Given the description of an element on the screen output the (x, y) to click on. 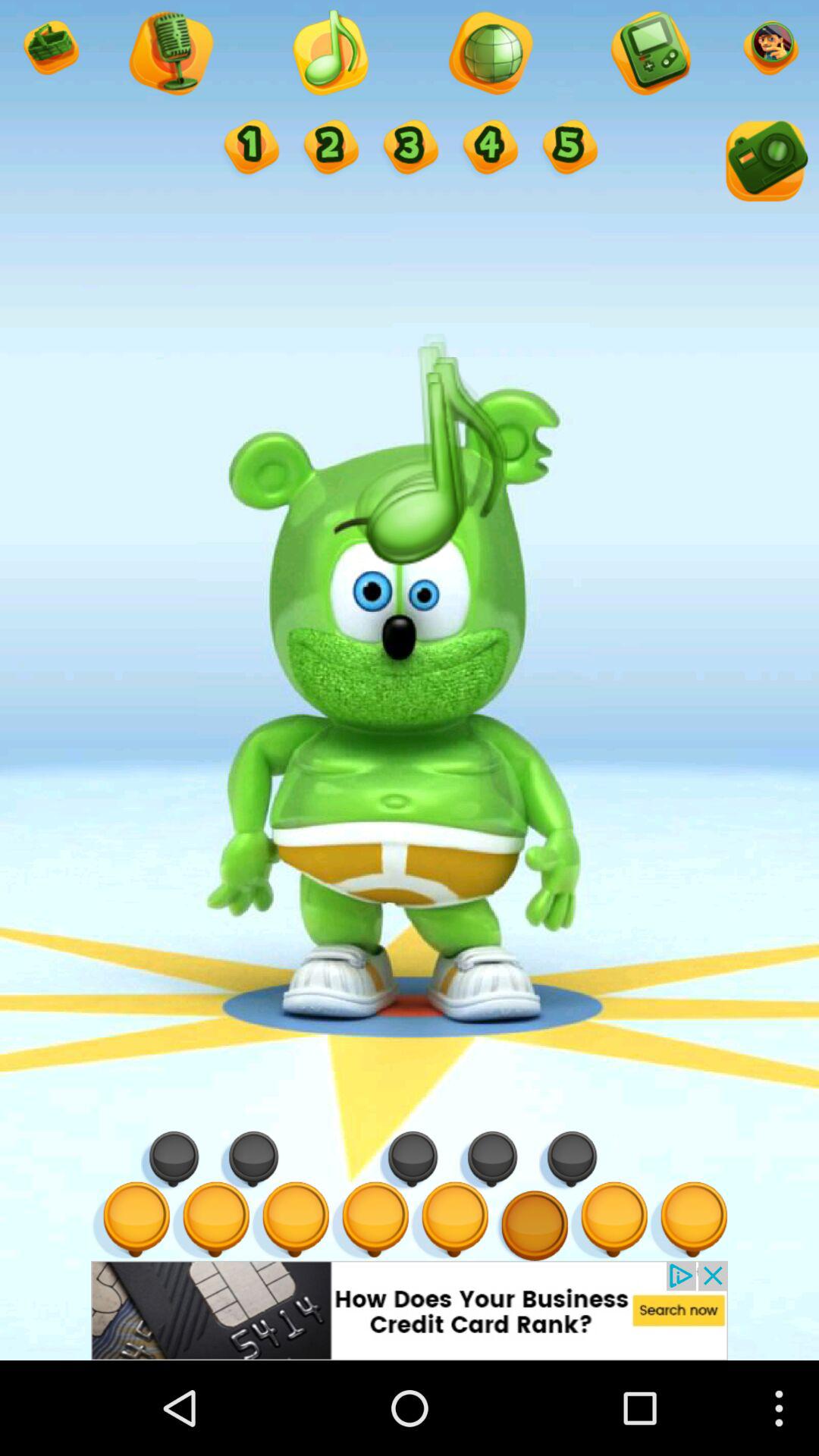
select option 5 (568, 149)
